Given the description of an element on the screen output the (x, y) to click on. 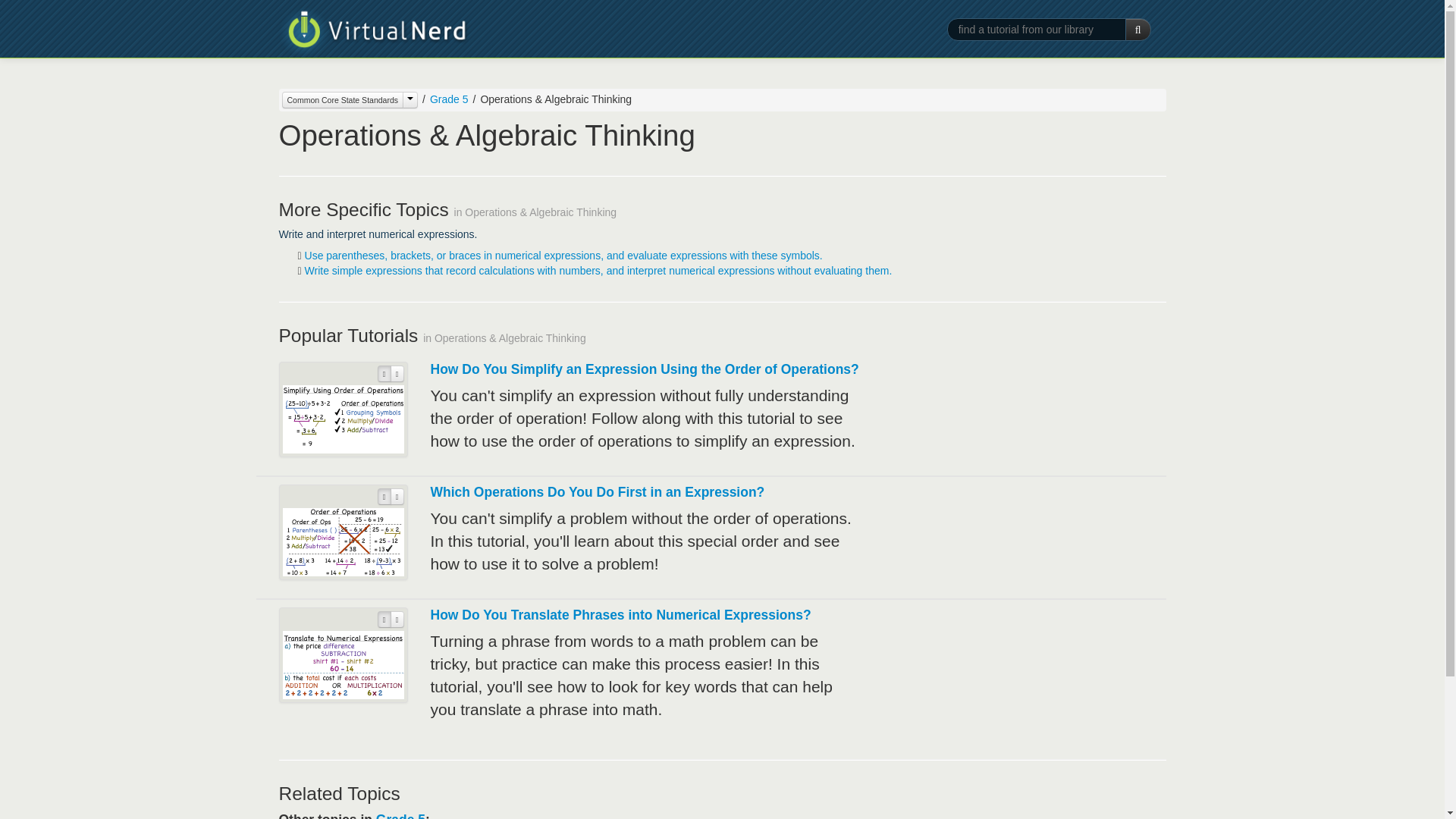
Which Operations Do You Do First in an Expression? (597, 491)
Grade 5 (442, 99)
How Do You Translate Phrases into Numerical Expressions? (620, 614)
Common Core State Standards (350, 99)
Grade 5 (400, 815)
Grade 5 (448, 99)
Virtual Nerd (373, 32)
